Given the description of an element on the screen output the (x, y) to click on. 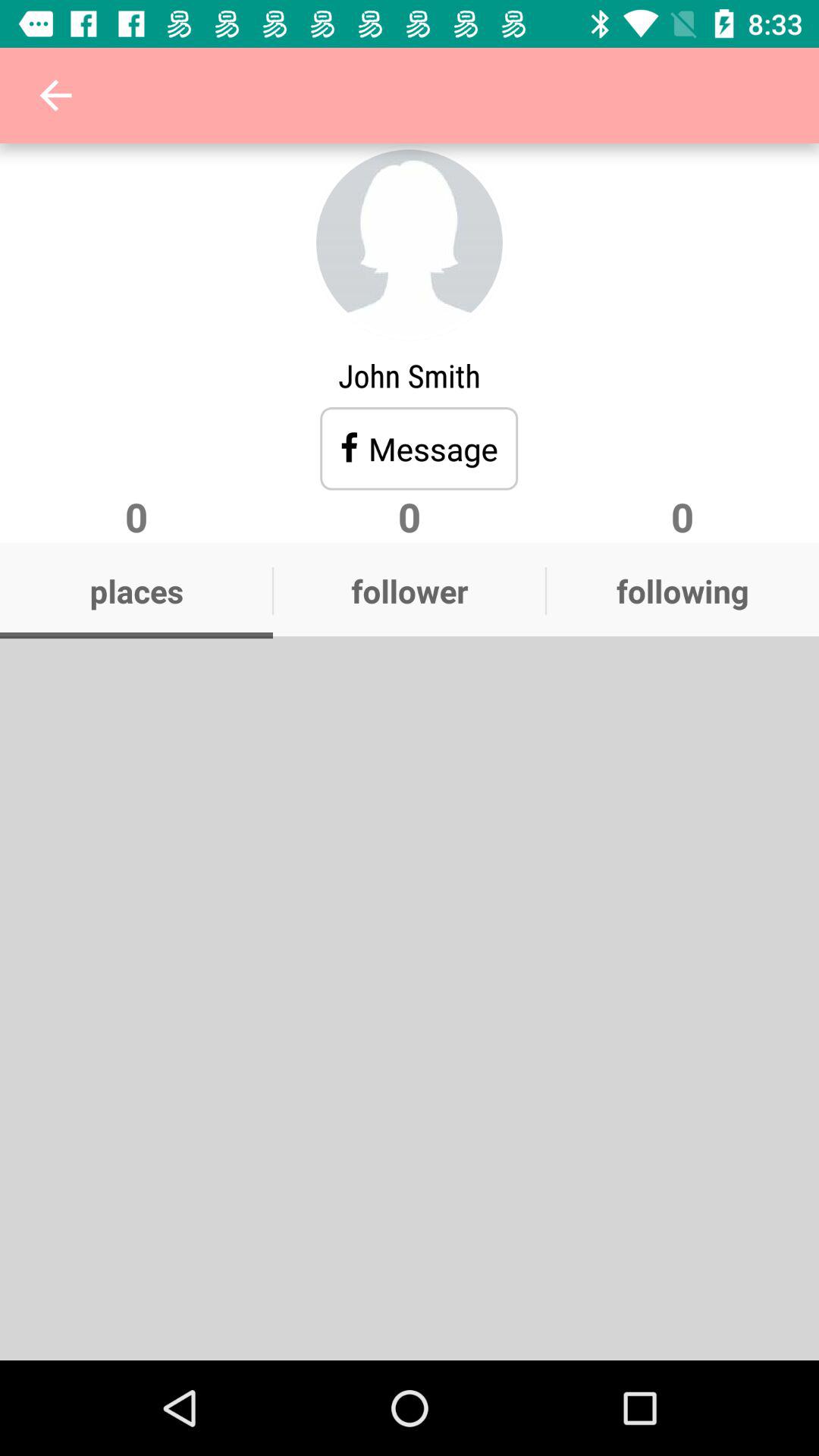
press the icon below the 0 icon (409, 590)
